Given the description of an element on the screen output the (x, y) to click on. 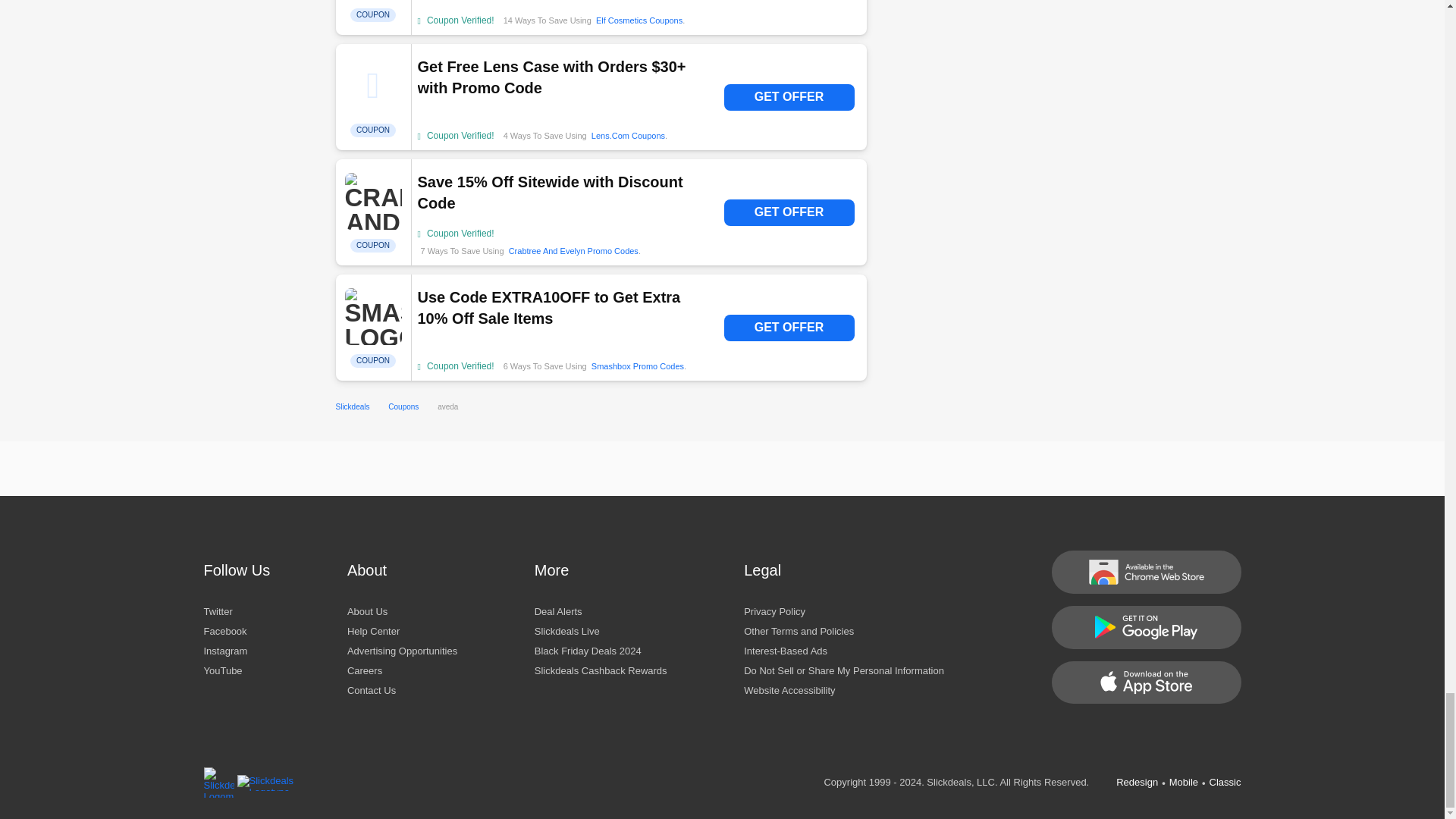
Install the Slickdeals Android App (1145, 627)
Install the Slickdeals Extension (1145, 571)
Install the Slickdeals iOS App (1145, 681)
